Given the description of an element on the screen output the (x, y) to click on. 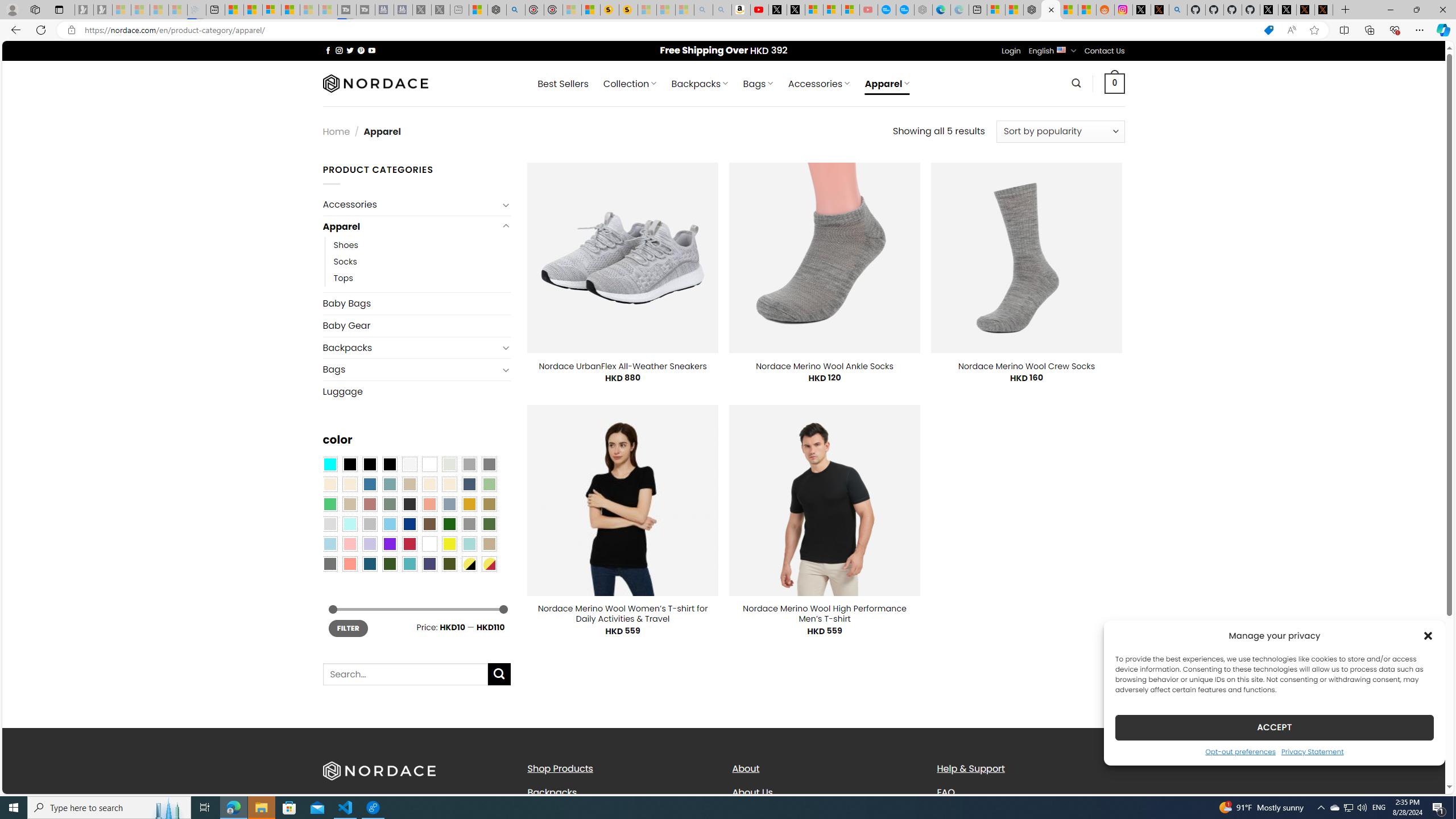
Ash Gray (449, 464)
Nordace Merino Wool Ankle Socks (824, 365)
Light Green (488, 483)
Luggage (416, 391)
Light Taupe (349, 503)
